Given the description of an element on the screen output the (x, y) to click on. 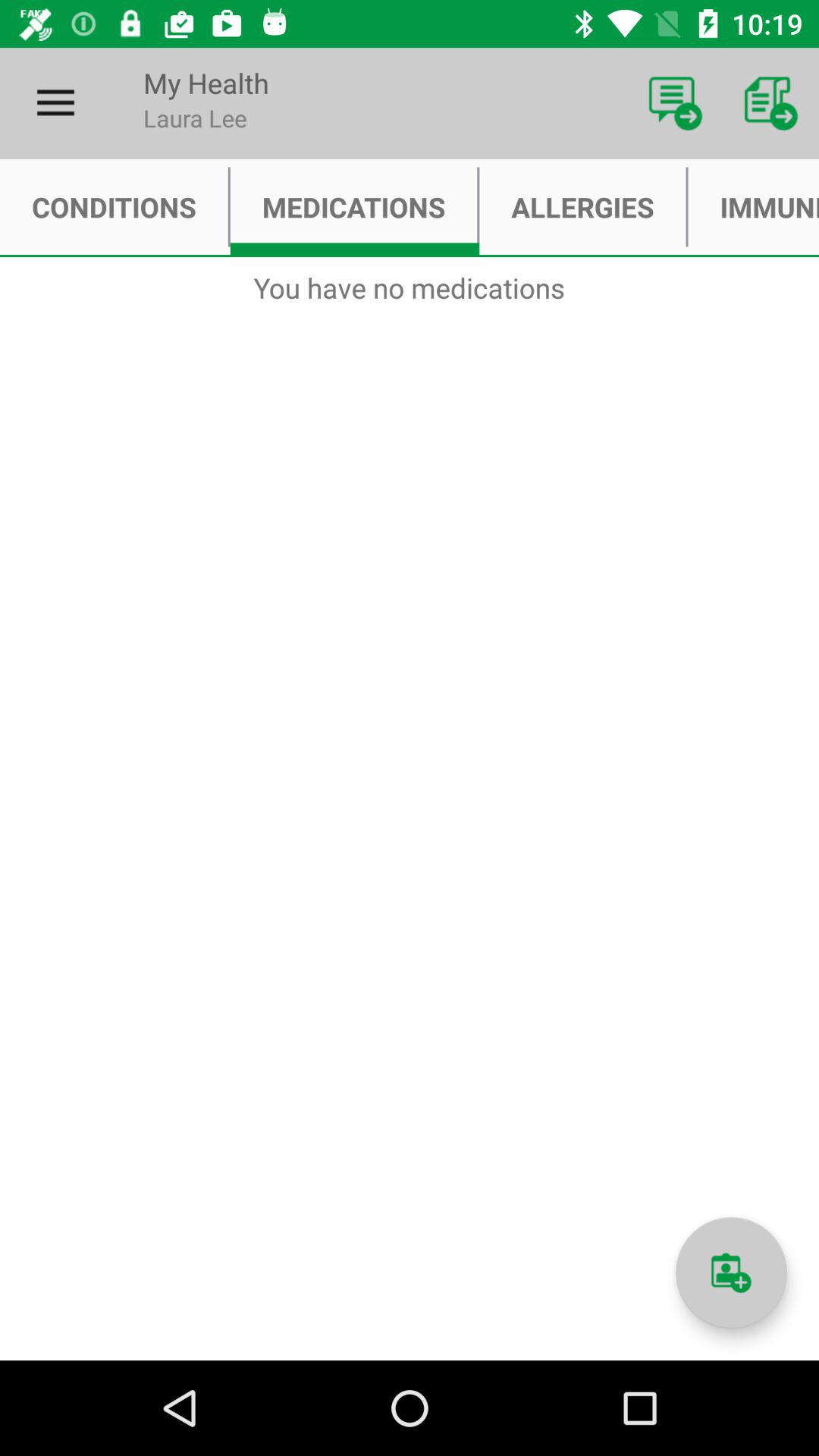
launch the item to the left of my health item (55, 103)
